Given the description of an element on the screen output the (x, y) to click on. 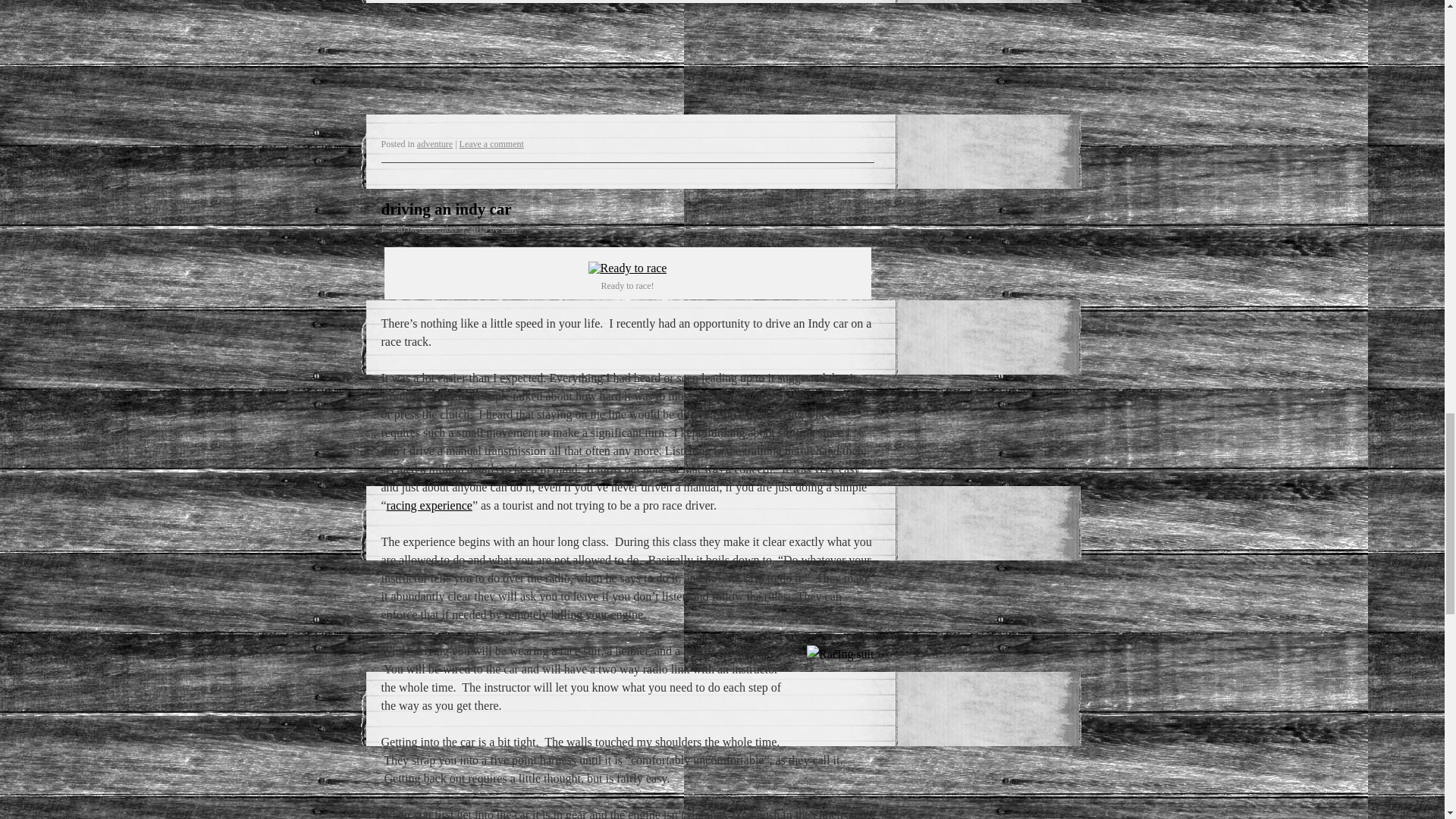
adventure (434, 143)
racing experience (429, 504)
Leave a comment (492, 143)
Carl (508, 228)
Permalink to driving an indy car (445, 208)
View all posts by Carl (508, 228)
driving an indy car (445, 208)
I'm in the green and white car (627, 268)
Posted on September 5, 2013 (453, 228)
September 5, 2013 (453, 228)
